Given the description of an element on the screen output the (x, y) to click on. 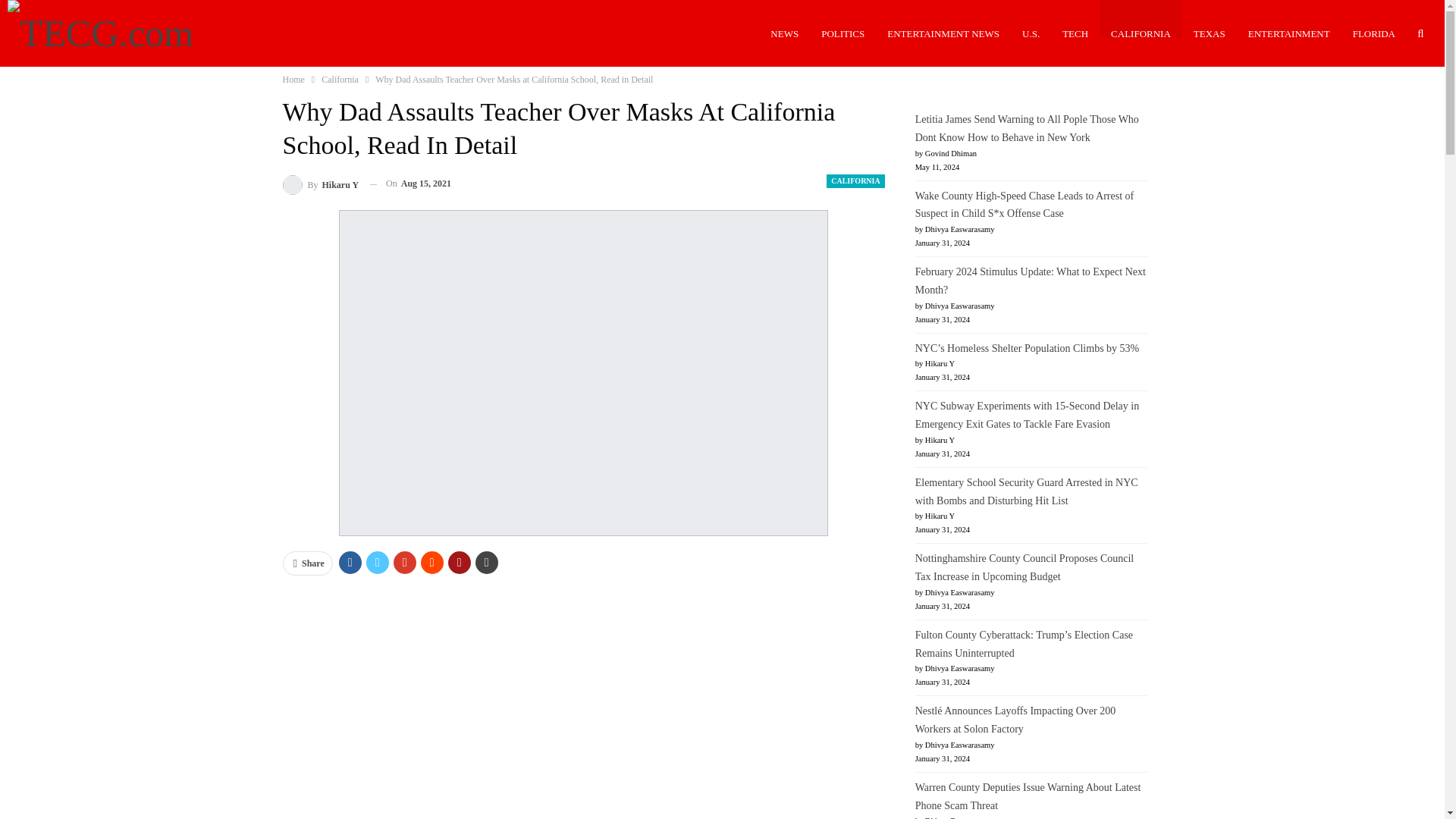
POLITICS (842, 33)
Browse Author Articles (320, 183)
ENTERTAINMENT NEWS (943, 33)
Advertisement (583, 699)
